Given the description of an element on the screen output the (x, y) to click on. 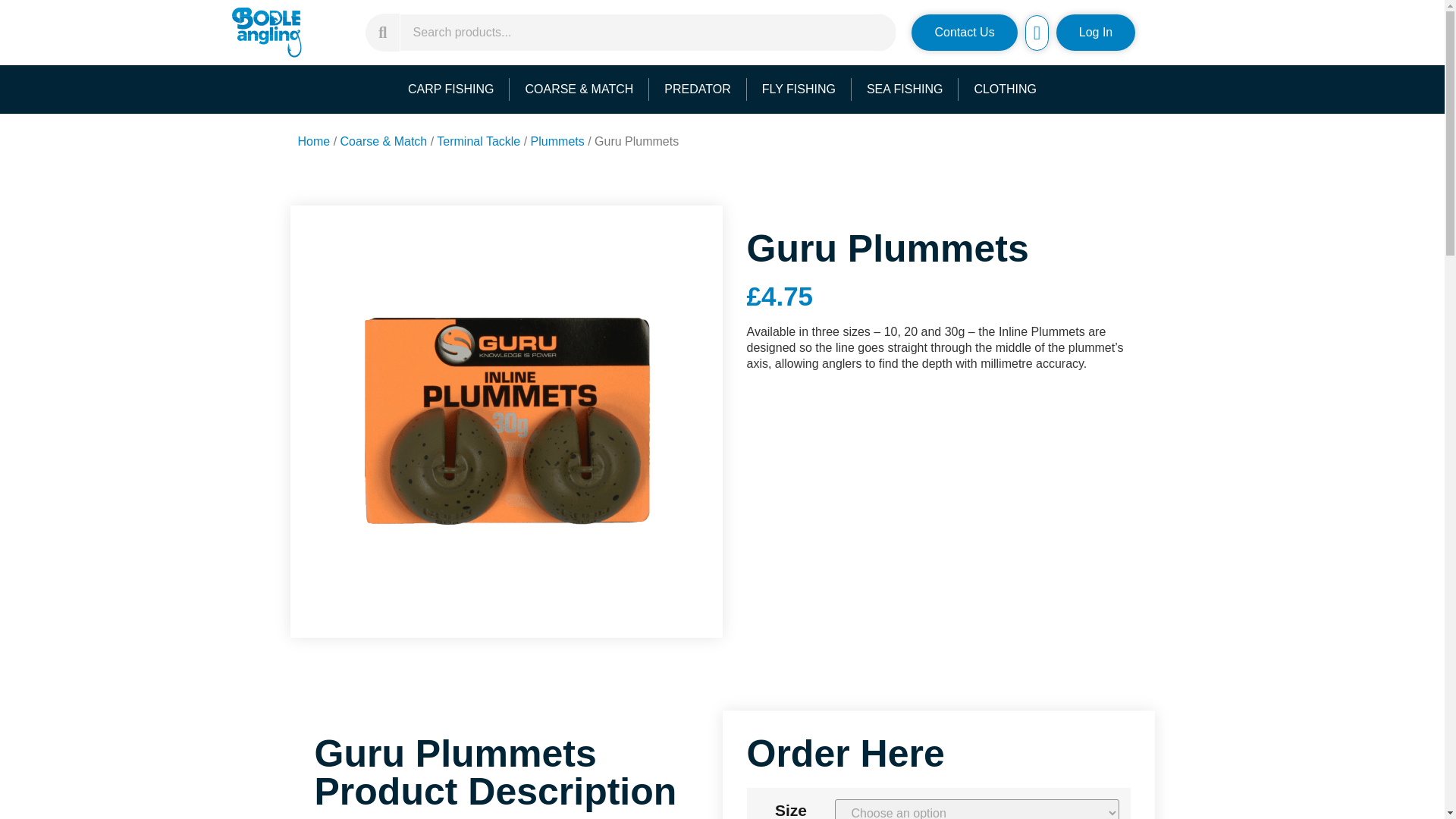
Contact Us (963, 32)
Log In (1096, 32)
Sea Fishing (904, 89)
CARP FISHING (451, 89)
